Given the description of an element on the screen output the (x, y) to click on. 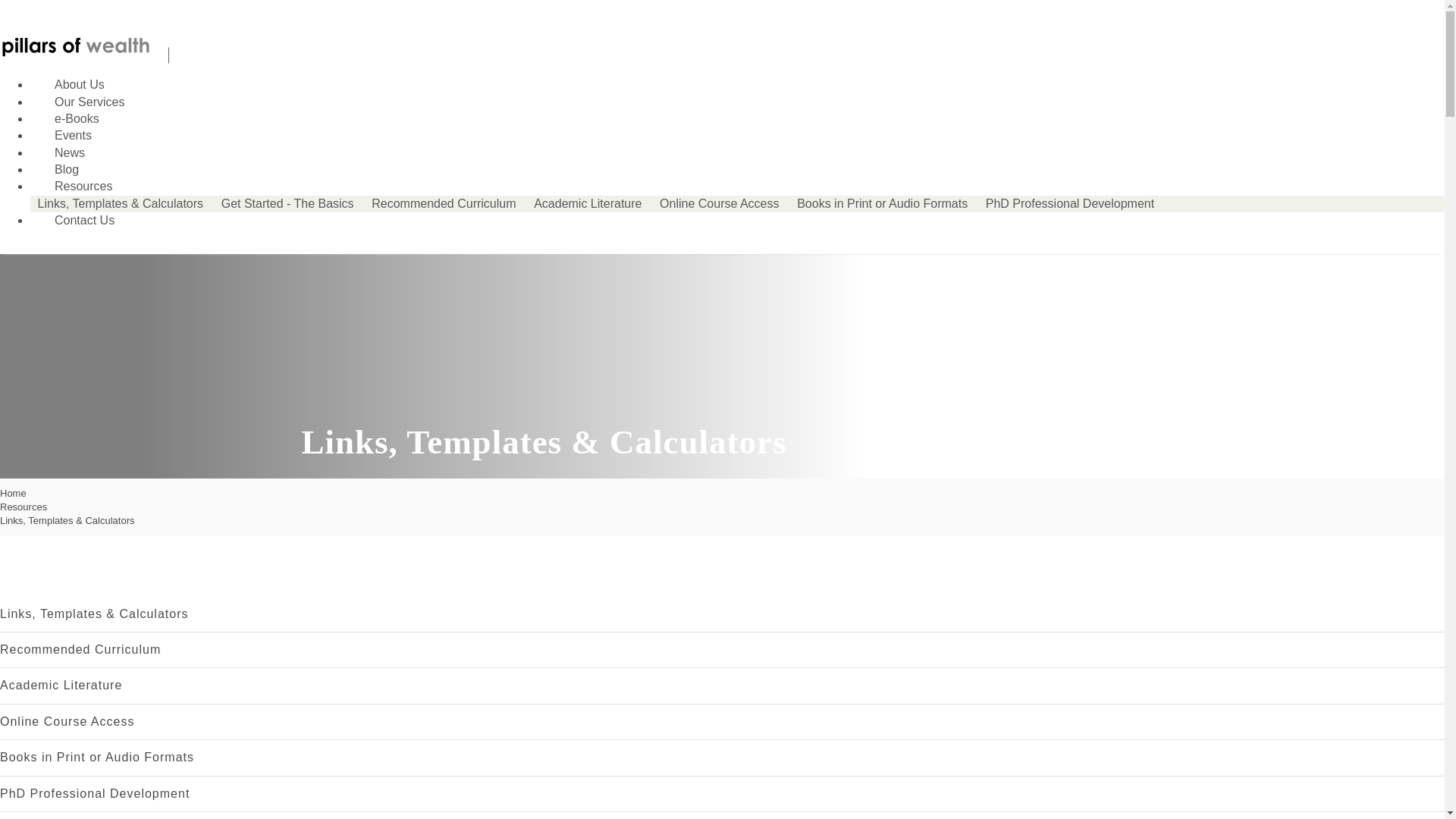
Get Started - The Basics (287, 203)
PhD Professional Development (1069, 203)
News (57, 152)
Recommended Curriculum (443, 203)
Resources (71, 185)
Blog (54, 169)
About Us (67, 83)
Contact Us (72, 219)
e-Books (64, 118)
Our Services (76, 101)
